Given the description of an element on the screen output the (x, y) to click on. 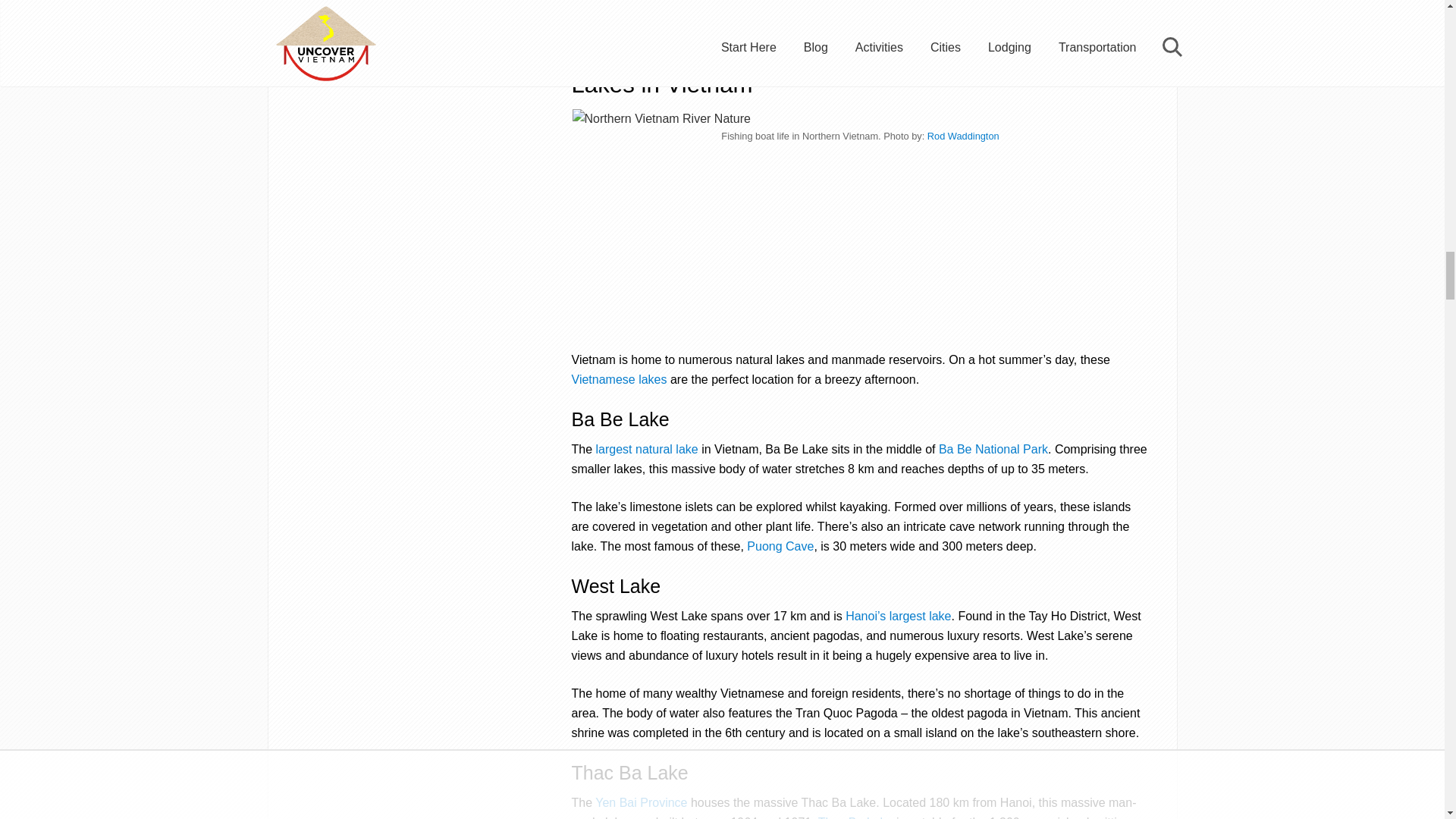
Rod Waddington (962, 135)
West Lake Hanoi (897, 615)
Vietnam lakes and reservoirs (619, 379)
